Given the description of an element on the screen output the (x, y) to click on. 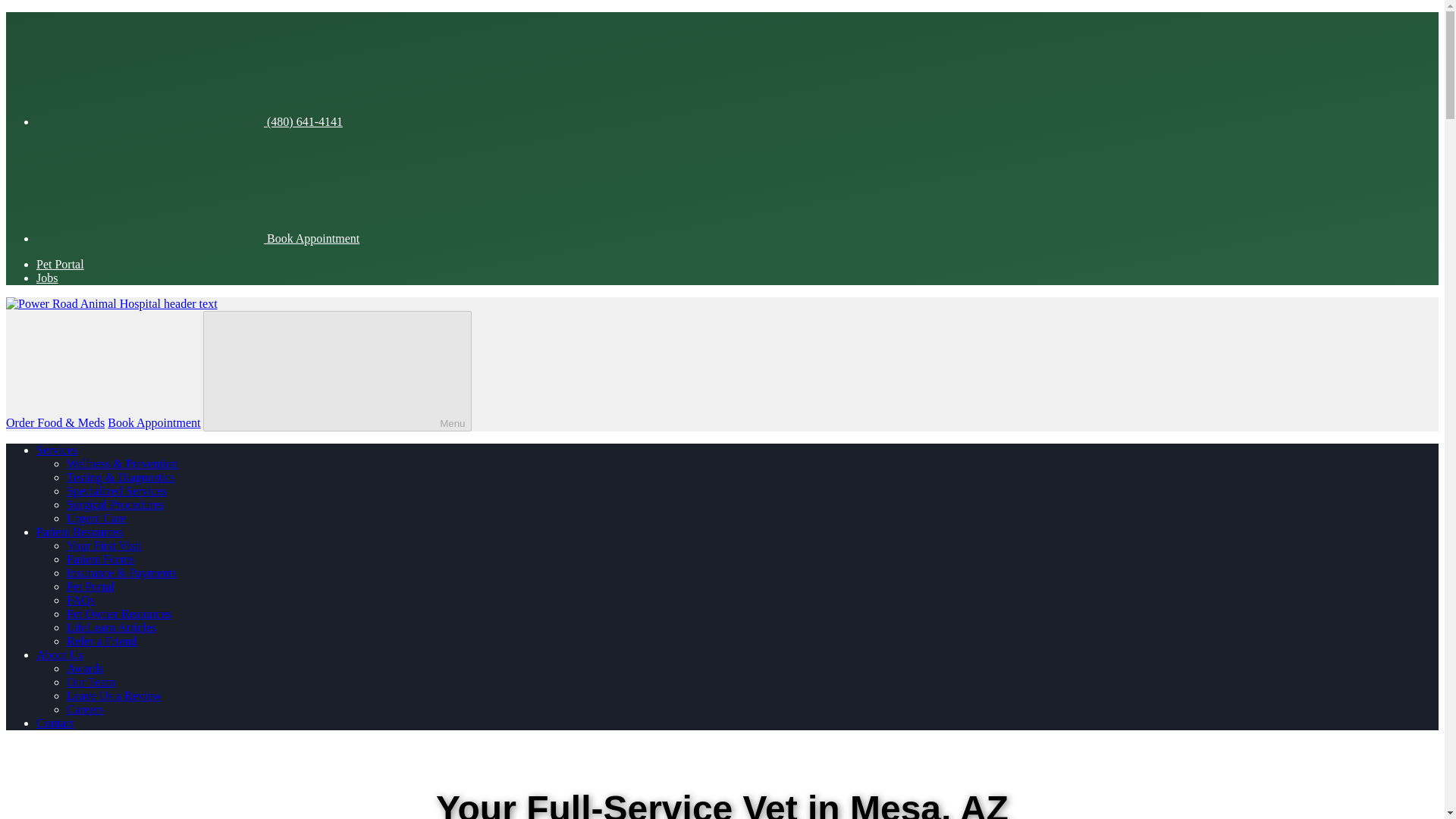
FAQs (80, 599)
Leave Us a Review (113, 695)
Menu (336, 371)
Services (56, 449)
Refer a Friend (101, 640)
Our Team (90, 681)
Jobs (47, 277)
Specialized Services (116, 490)
Book Appointment (197, 237)
Pet Portal (60, 264)
